Given the description of an element on the screen output the (x, y) to click on. 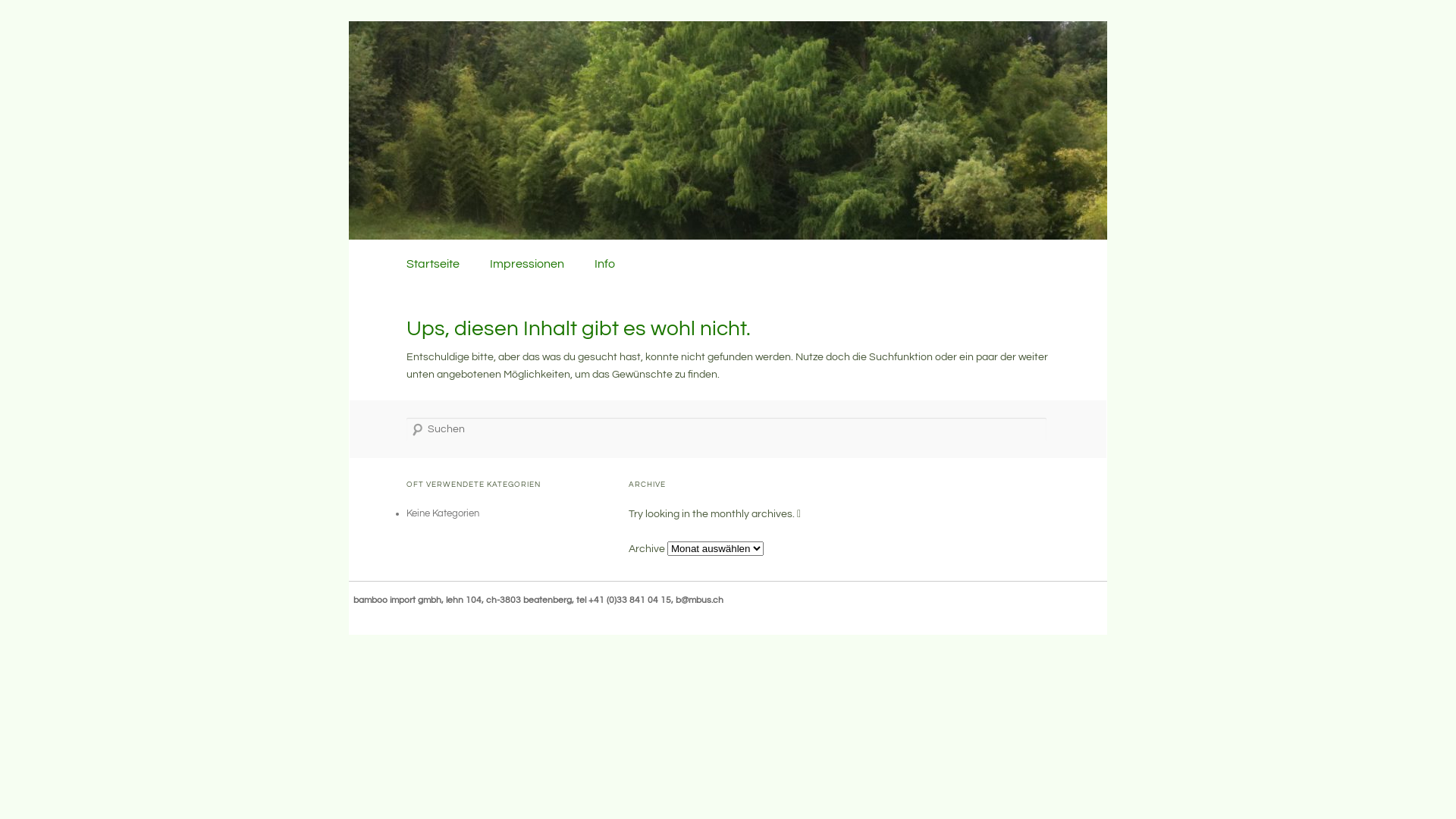
Suchen Element type: text (24, 7)
Info Element type: text (604, 264)
Bambusparkett Element type: text (485, 100)
Zum Inhalt wechseln Element type: text (455, 258)
Startseite Element type: text (432, 264)
Impressionen Element type: text (526, 264)
